Given the description of an element on the screen output the (x, y) to click on. 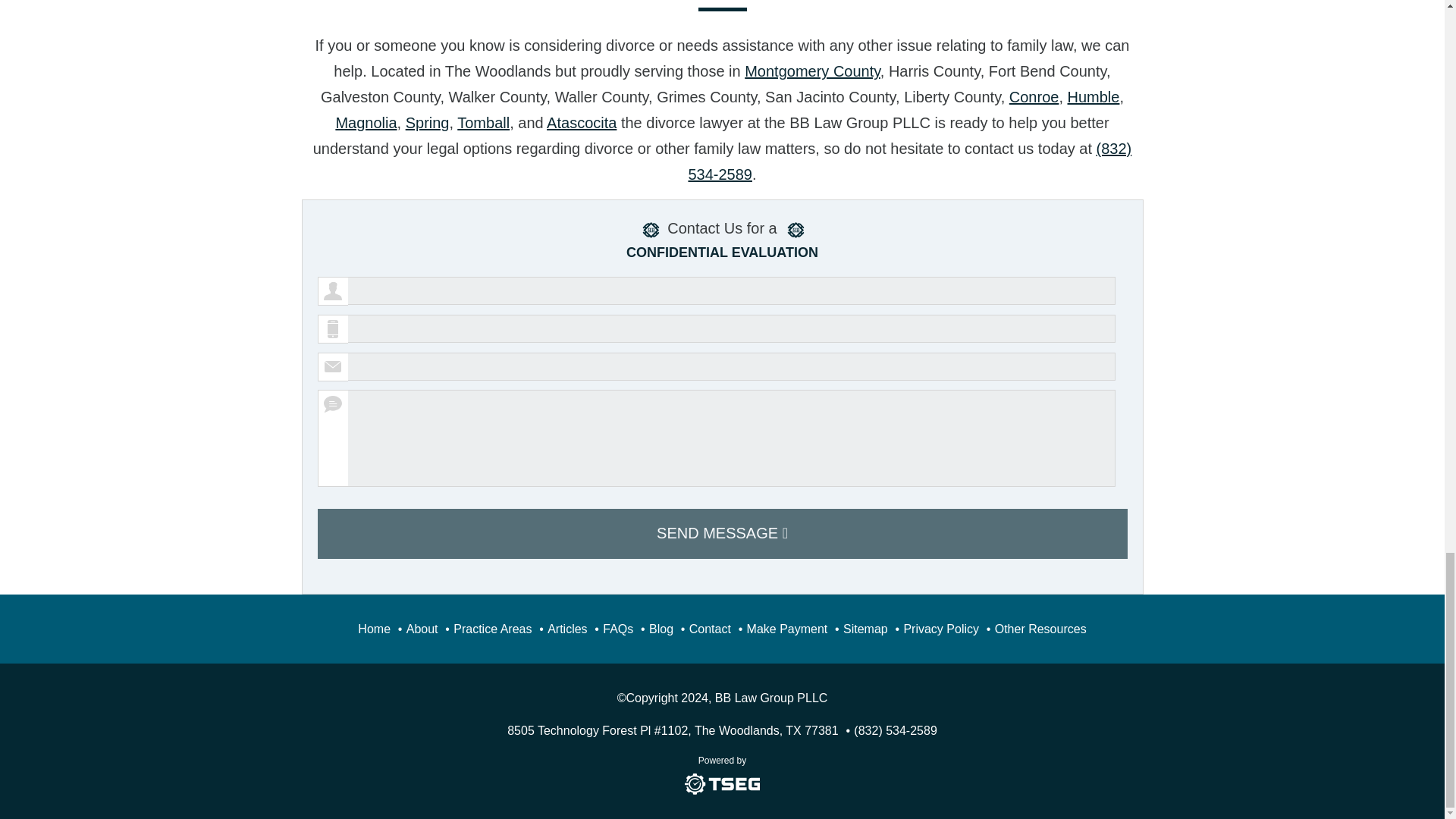
Privacy Policy (940, 628)
Spring (427, 122)
Practice Areas (491, 628)
Atascocita (581, 122)
Blog (660, 628)
Magnolia (365, 122)
Sitemap (865, 628)
Other Resources (1040, 628)
Home (374, 628)
Humble (1093, 96)
Contact (709, 628)
Tomball (483, 122)
FAQs (617, 628)
Conroe (1034, 96)
Powered by (721, 773)
